Given the description of an element on the screen output the (x, y) to click on. 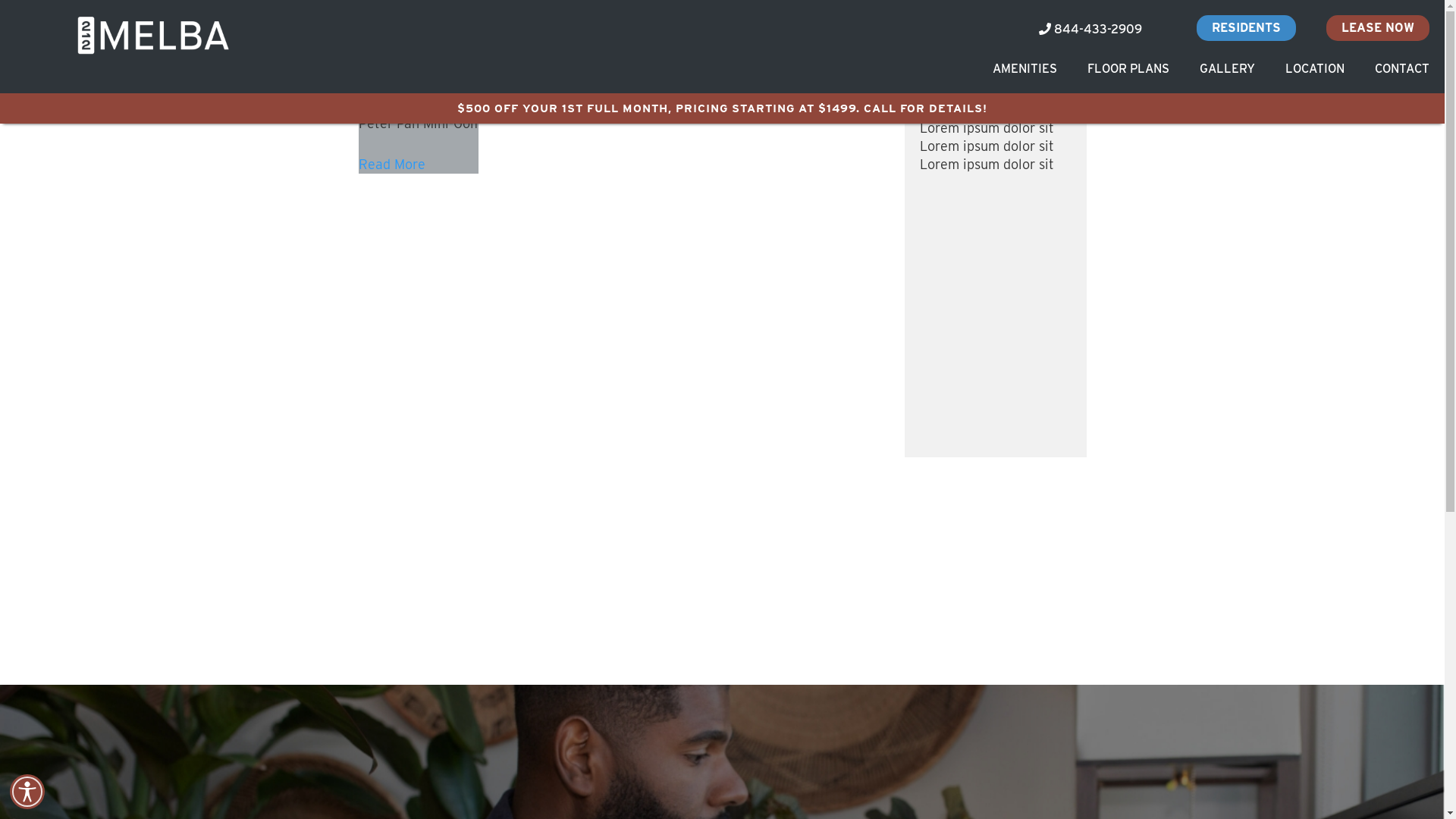
LEASE NOW Element type: text (1377, 27)
844-433-2909 Element type: text (1090, 29)
CONTACT Element type: text (1401, 68)
GALLERY Element type: text (1227, 68)
RESIDENTS Element type: text (1245, 27)
FLOOR PLANS Element type: text (1128, 68)
Lorem ipsum dolor sit Element type: text (986, 127)
AMENITIES Element type: text (1024, 68)
Lorem ipsum dolor sit Element type: text (986, 145)
Lorem ipsum dolor sit Element type: text (986, 164)
CALL FOR DETAILS! Element type: text (925, 108)
June 10, 2022
Peter Pan Mini-Golf
Read More Element type: text (417, 134)
LOCATION Element type: text (1314, 68)
